Given the description of an element on the screen output the (x, y) to click on. 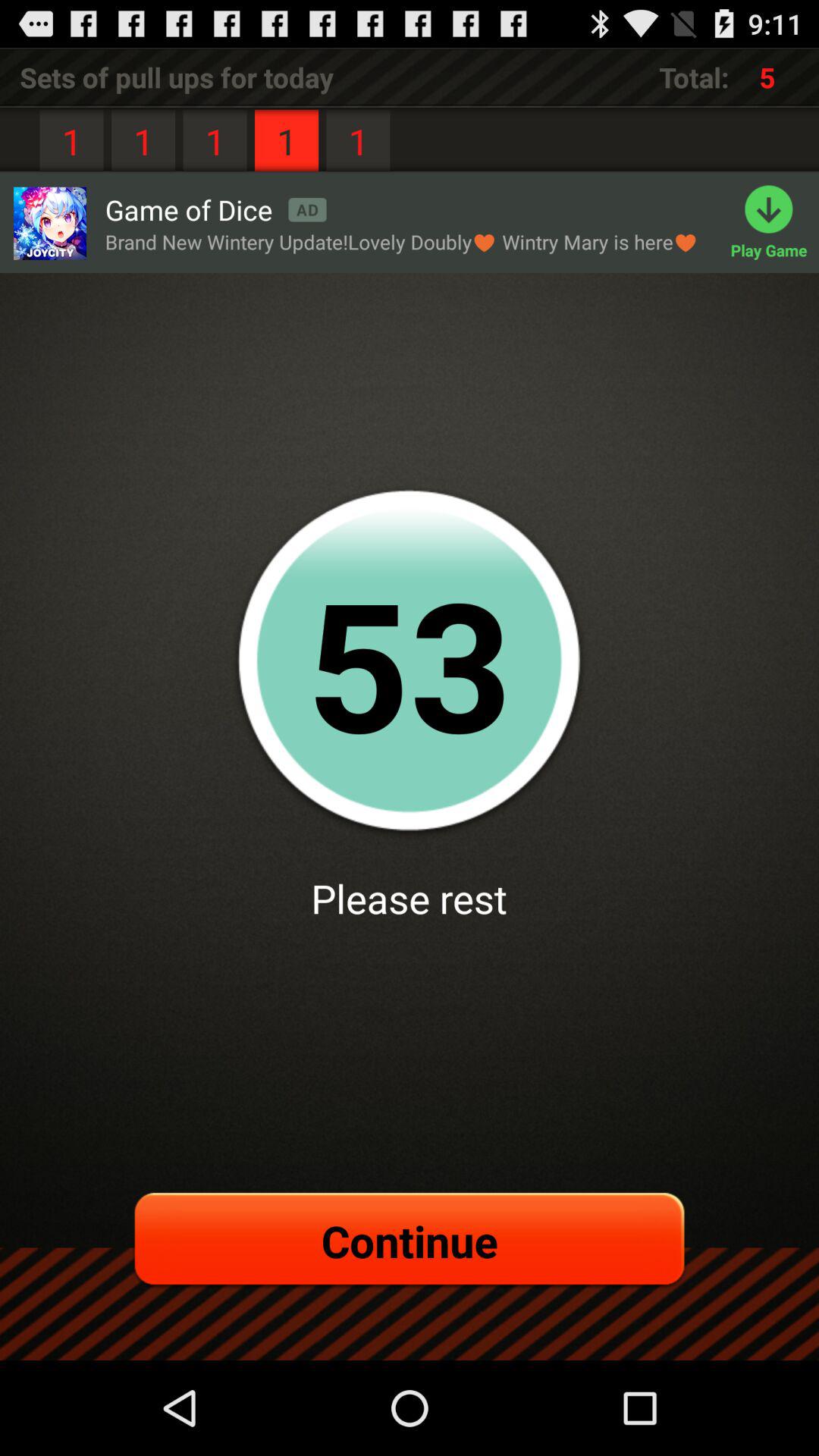
main picture of an advertisement (49, 222)
